Given the description of an element on the screen output the (x, y) to click on. 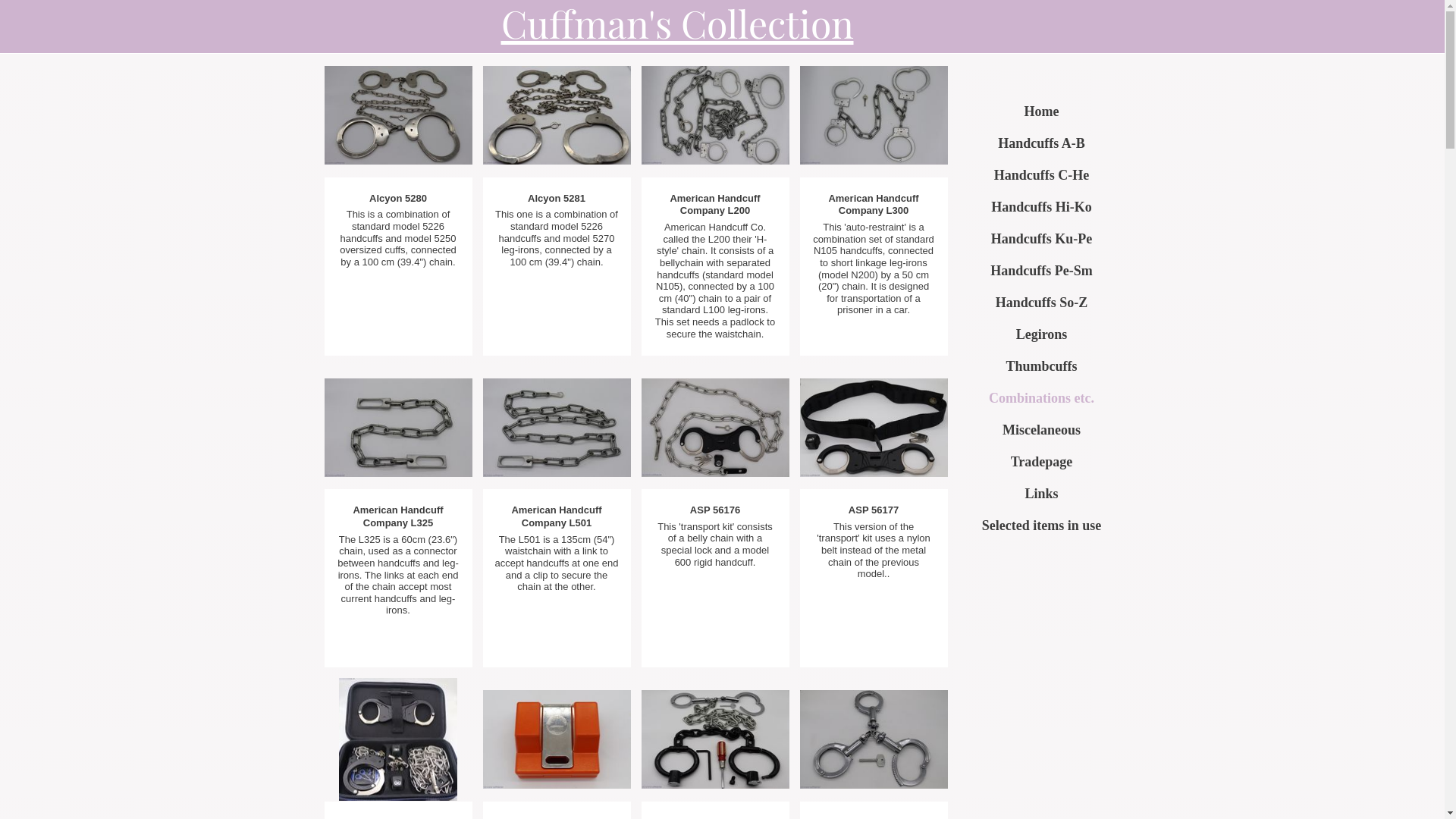
American Handcuff Company L325 Element type: hover (398, 427)
Legirons Element type: text (1040, 334)
American Handcuff Company L300 Element type: hover (873, 114)
ASP 56176 Element type: hover (715, 427)
Handcuffs Ku-Pe Element type: text (1040, 238)
Combinations etc. Element type: text (1040, 398)
American Handcuff Company L501 Element type: hover (556, 427)
Alcyon 5280 Element type: hover (398, 114)
Thumbcuffs Element type: text (1040, 366)
Handcuffs Hi-Ko Element type: text (1040, 206)
ASP 56179 Element type: hover (397, 739)
Selected items in use Element type: text (1040, 525)
BOA Handcuff Company CM Element type: hover (556, 739)
Tradepage Element type: text (1040, 461)
American Handcuff Company L200 Element type: hover (715, 114)
Links Element type: text (1040, 493)
Handcuffs A-B Element type: text (1040, 143)
Alcyon 5281 Element type: hover (556, 114)
Handcuffs So-Z Element type: text (1040, 302)
Handcuffs C-He Element type: text (1040, 175)
ASP 56177 Element type: hover (873, 427)
Handcuffs Pe-Sm Element type: text (1040, 270)
Bri-Circle Element type: hover (873, 739)
Miscelaneous Element type: text (1040, 429)
Bri-Circle Element type: hover (715, 739)
Home Element type: text (1040, 111)
